Given the description of an element on the screen output the (x, y) to click on. 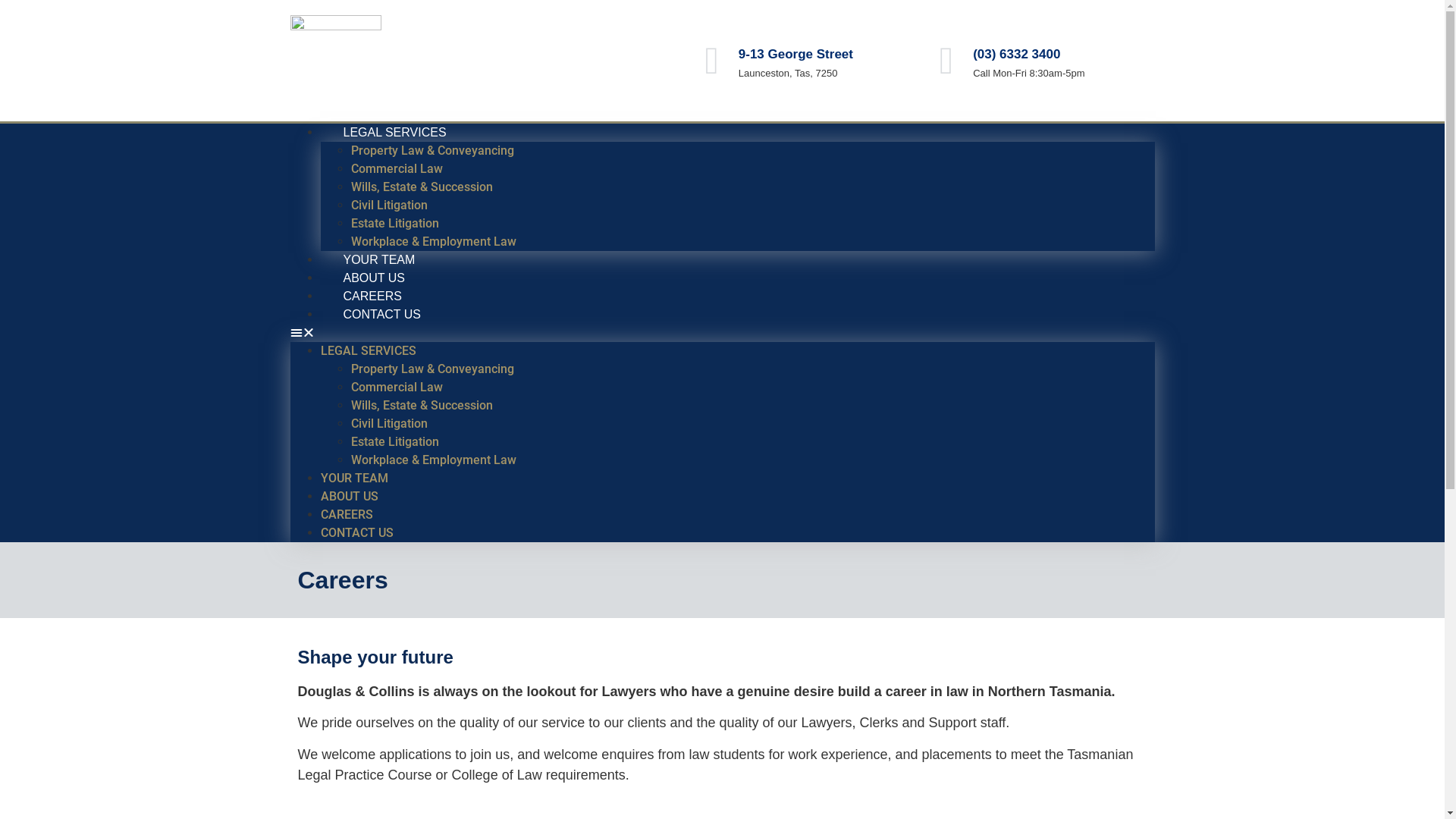
Wills, Estate & Succession Element type: text (421, 405)
Property Law & Conveyancing Element type: text (431, 150)
Estate Litigation Element type: text (394, 223)
Commercial Law Element type: text (396, 386)
Estate Litigation Element type: text (394, 441)
Civil Litigation Element type: text (388, 204)
CAREERS Element type: text (346, 514)
CONTACT US Element type: text (356, 532)
ABOUT US Element type: text (373, 277)
YOUR TEAM Element type: text (378, 259)
Property Law & Conveyancing Element type: text (431, 368)
Workplace & Employment Law Element type: text (432, 459)
Workplace & Employment Law Element type: text (432, 241)
CAREERS Element type: text (371, 295)
Wills, Estate & Succession Element type: text (421, 186)
Commercial Law Element type: text (396, 168)
LEGAL SERVICES Element type: text (394, 131)
LEGAL SERVICES Element type: text (367, 350)
YOUR TEAM Element type: text (353, 477)
Civil Litigation Element type: text (388, 423)
CONTACT US Element type: text (381, 313)
ABOUT US Element type: text (348, 496)
